Given the description of an element on the screen output the (x, y) to click on. 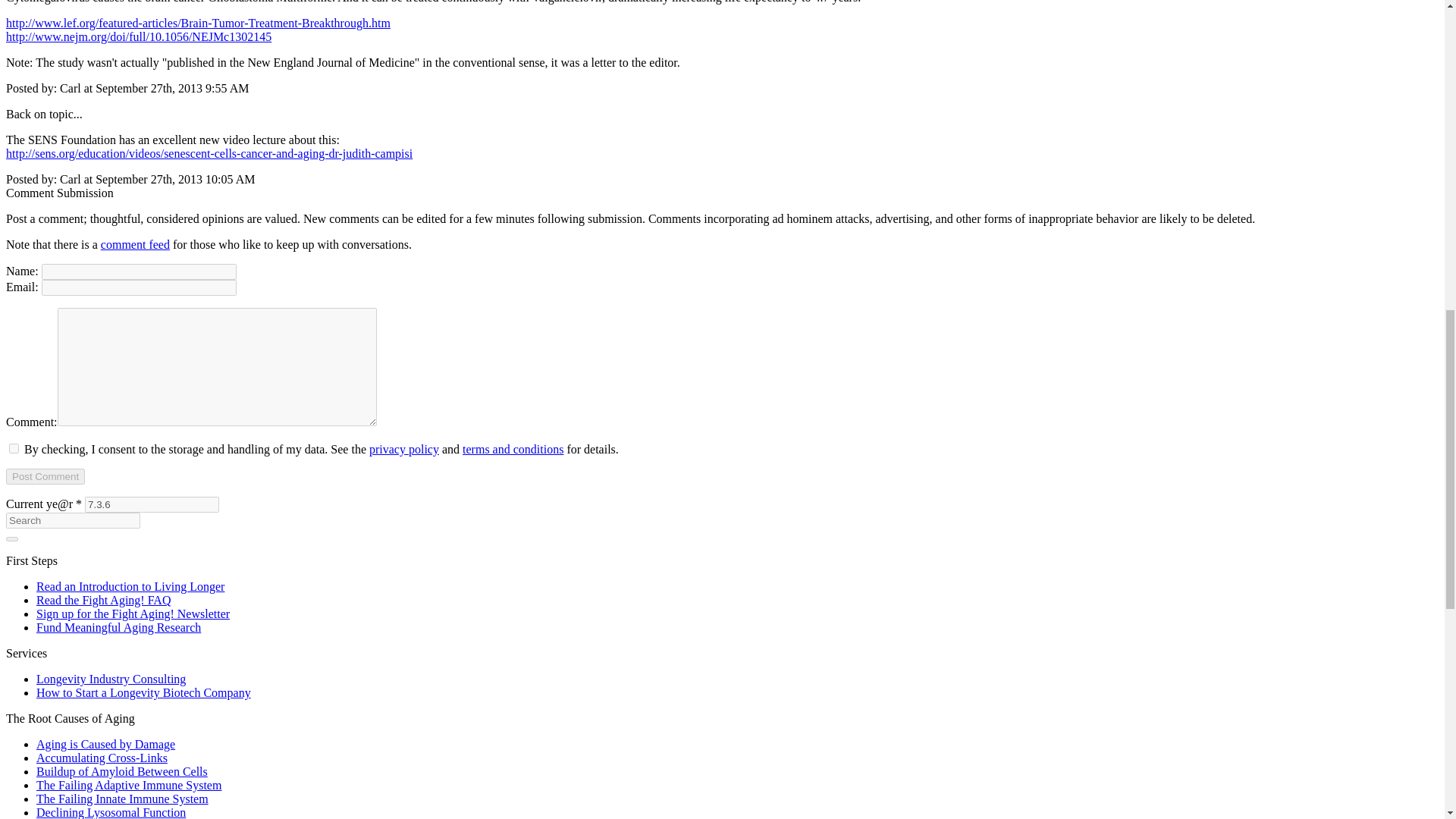
Post Comment (44, 476)
7.3.6 (151, 504)
1 (13, 448)
